Given the description of an element on the screen output the (x, y) to click on. 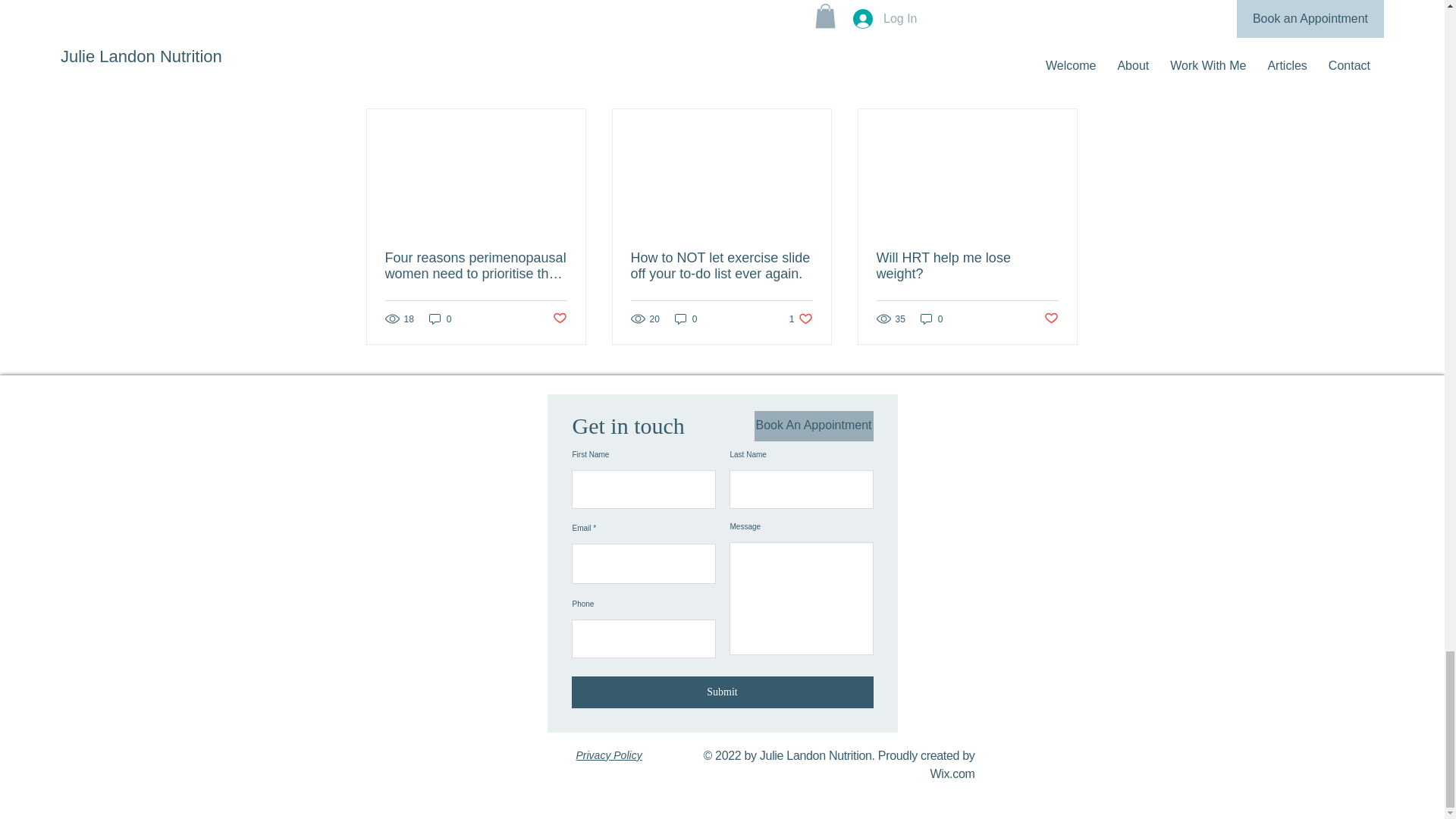
Post not marked as liked (995, 3)
0 (440, 318)
See All (800, 318)
0 (1061, 82)
0 (931, 318)
Post not marked as liked (685, 318)
Will HRT help me lose weight? (558, 318)
